Given the description of an element on the screen output the (x, y) to click on. 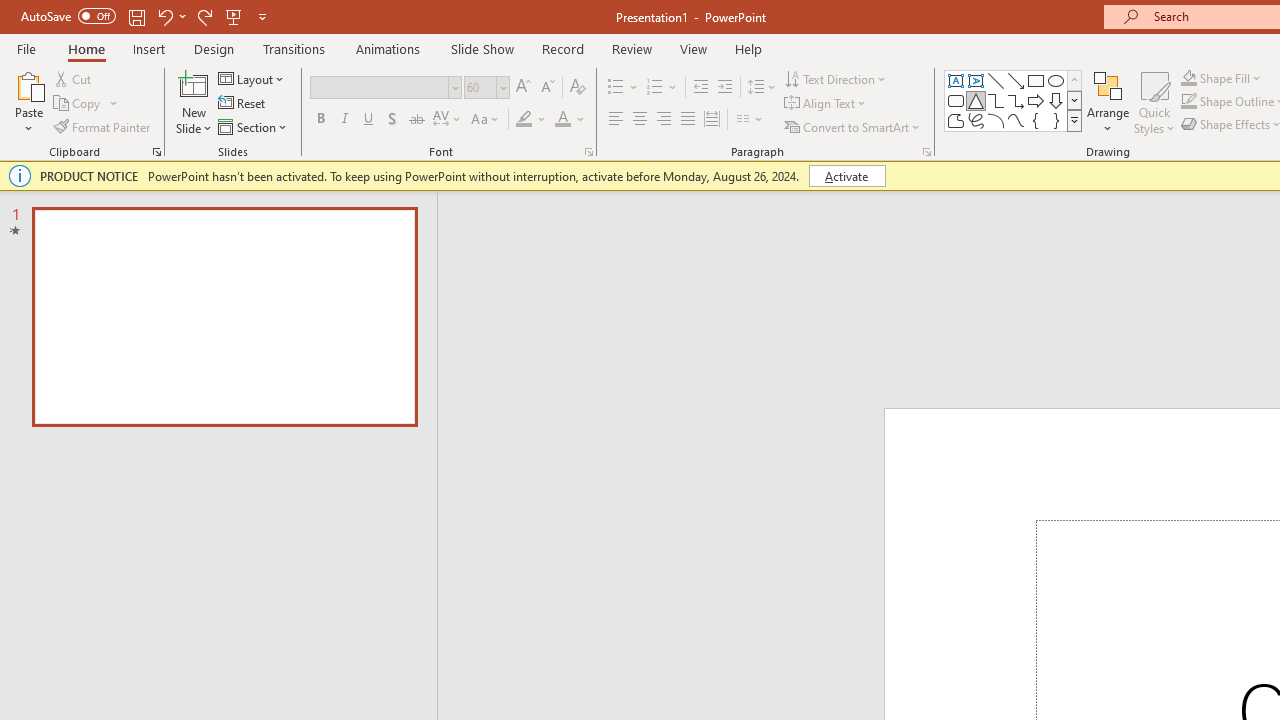
Align Right (663, 119)
Arrange (1108, 102)
Underline (369, 119)
Connector: Elbow Arrow (1016, 100)
Right Brace (1055, 120)
Text Direction (836, 78)
Align Text (826, 103)
Freeform: Shape (955, 120)
